Given the description of an element on the screen output the (x, y) to click on. 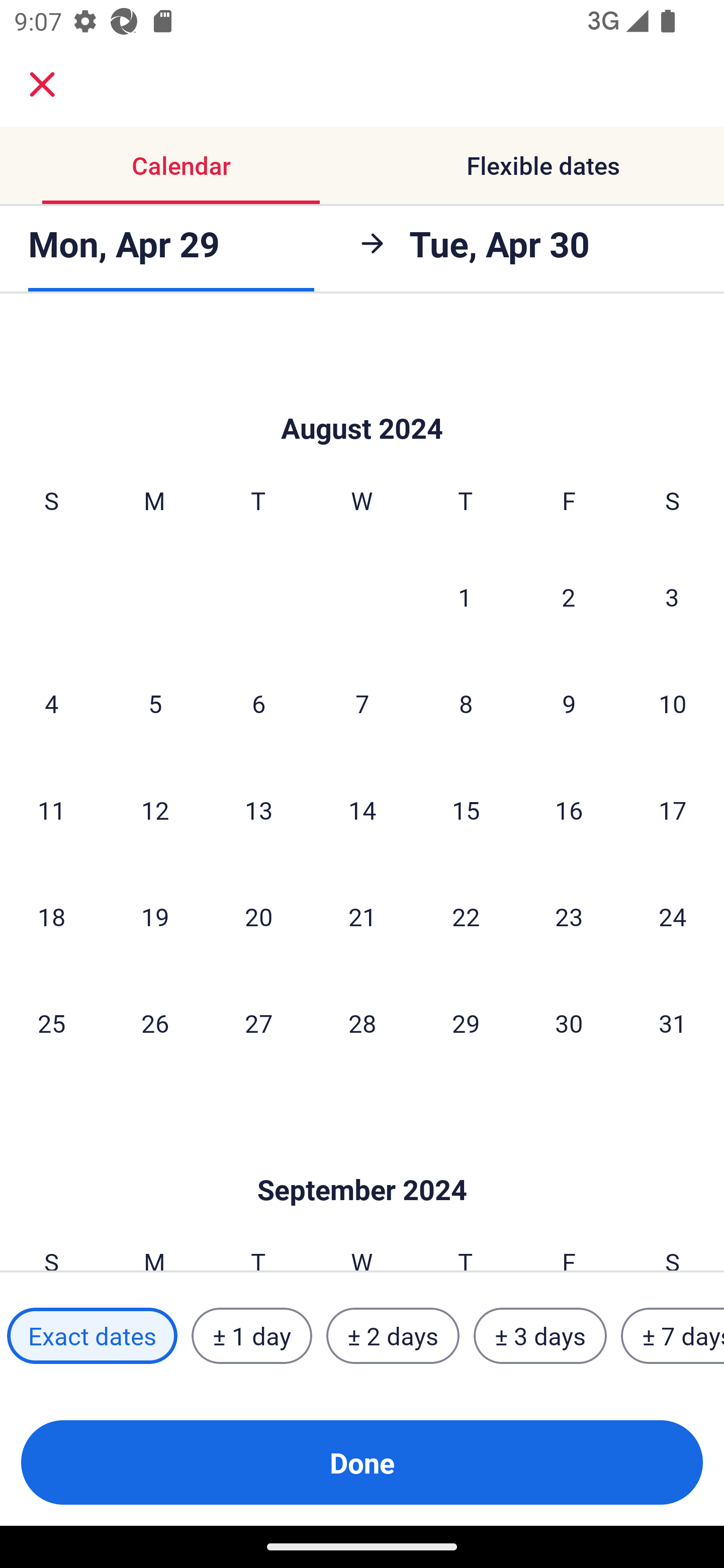
close. (42, 84)
Flexible dates (542, 164)
Skip to Done (362, 397)
1 Thursday, August 1, 2024 (464, 596)
2 Friday, August 2, 2024 (568, 596)
3 Saturday, August 3, 2024 (672, 596)
4 Sunday, August 4, 2024 (51, 703)
5 Monday, August 5, 2024 (155, 703)
6 Tuesday, August 6, 2024 (258, 703)
7 Wednesday, August 7, 2024 (362, 703)
8 Thursday, August 8, 2024 (465, 703)
9 Friday, August 9, 2024 (569, 703)
10 Saturday, August 10, 2024 (672, 703)
11 Sunday, August 11, 2024 (51, 809)
12 Monday, August 12, 2024 (155, 809)
13 Tuesday, August 13, 2024 (258, 809)
14 Wednesday, August 14, 2024 (362, 809)
15 Thursday, August 15, 2024 (465, 809)
16 Friday, August 16, 2024 (569, 809)
17 Saturday, August 17, 2024 (672, 809)
18 Sunday, August 18, 2024 (51, 916)
19 Monday, August 19, 2024 (155, 916)
20 Tuesday, August 20, 2024 (258, 916)
21 Wednesday, August 21, 2024 (362, 916)
22 Thursday, August 22, 2024 (465, 916)
23 Friday, August 23, 2024 (569, 916)
24 Saturday, August 24, 2024 (672, 916)
25 Sunday, August 25, 2024 (51, 1023)
26 Monday, August 26, 2024 (155, 1023)
27 Tuesday, August 27, 2024 (258, 1023)
28 Wednesday, August 28, 2024 (362, 1023)
29 Thursday, August 29, 2024 (465, 1023)
30 Friday, August 30, 2024 (569, 1023)
31 Saturday, August 31, 2024 (672, 1023)
Skip to Done (362, 1159)
Exact dates (92, 1335)
± 1 day (251, 1335)
± 2 days (392, 1335)
± 3 days (539, 1335)
± 7 days (672, 1335)
Done (361, 1462)
